Given the description of an element on the screen output the (x, y) to click on. 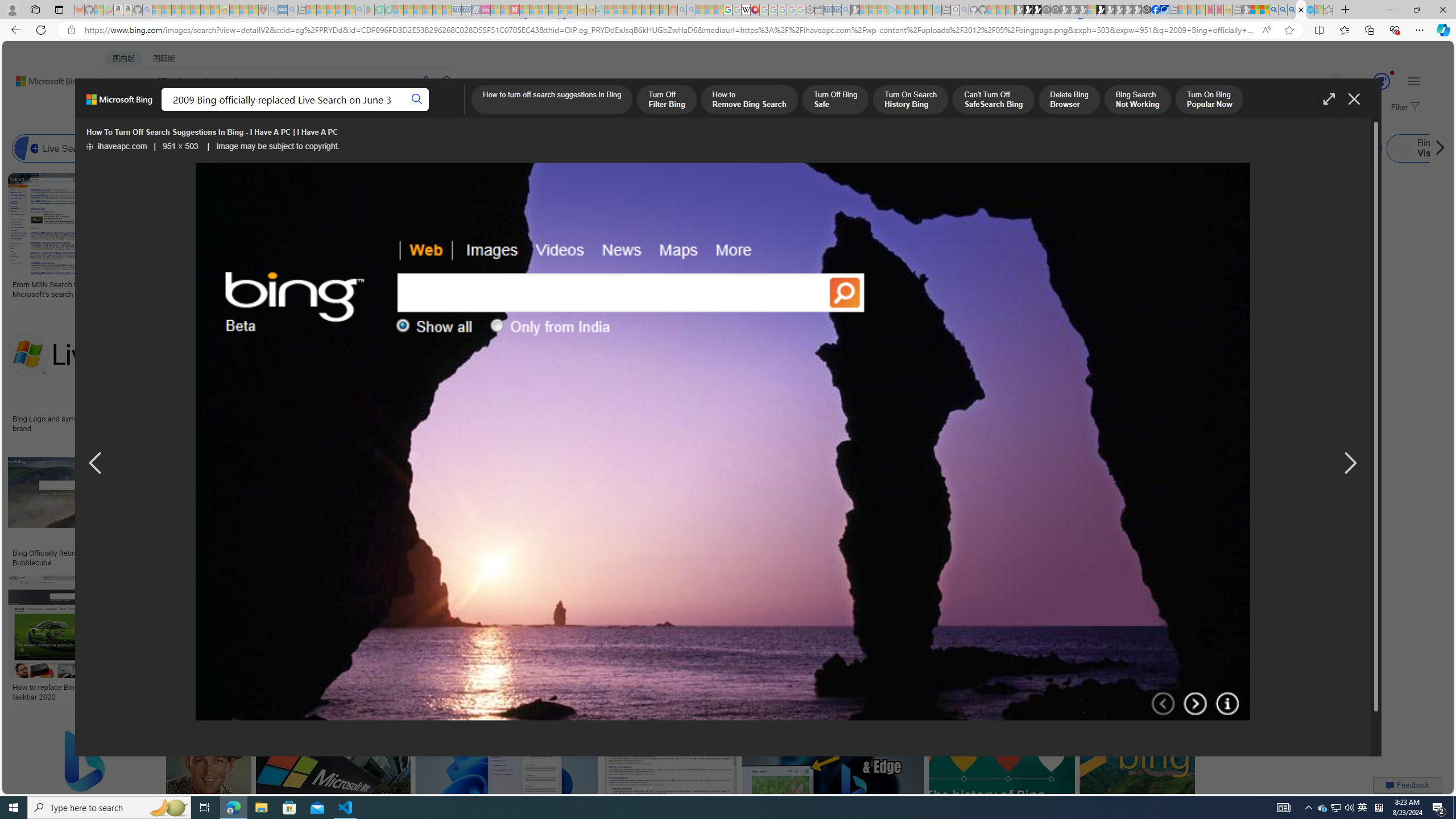
Bing - SEOLend (278, 552)
Bing AI - Search (1272, 9)
AirNow.gov (1163, 9)
Full screen (1328, 99)
MY BING (156, 111)
Bing (2009) (RARE/FAKE) - YouTubeSave (944, 505)
VIDEOS (310, 111)
Microsoft Start - Sleeping (919, 9)
DITOGAMES AG Imprint - Sleeping (600, 9)
